Given the description of an element on the screen output the (x, y) to click on. 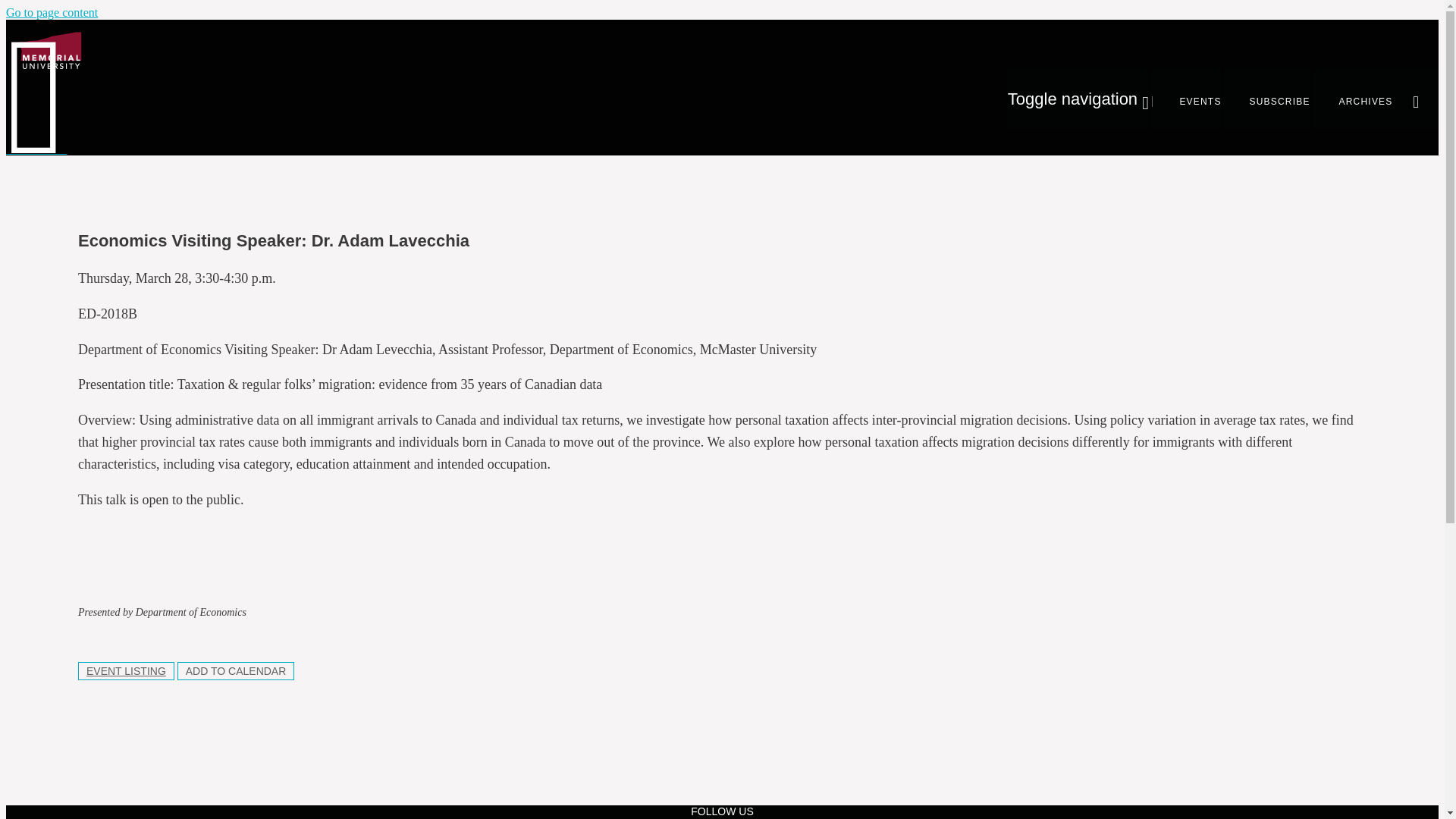
SUBSCRIBE (1267, 98)
Go to page content (51, 11)
EVENT LISTING (126, 670)
ADD TO CALENDAR (236, 670)
Toggle navigation (1077, 98)
ARCHIVES (1353, 98)
EVENTS (1186, 98)
